Given the description of an element on the screen output the (x, y) to click on. 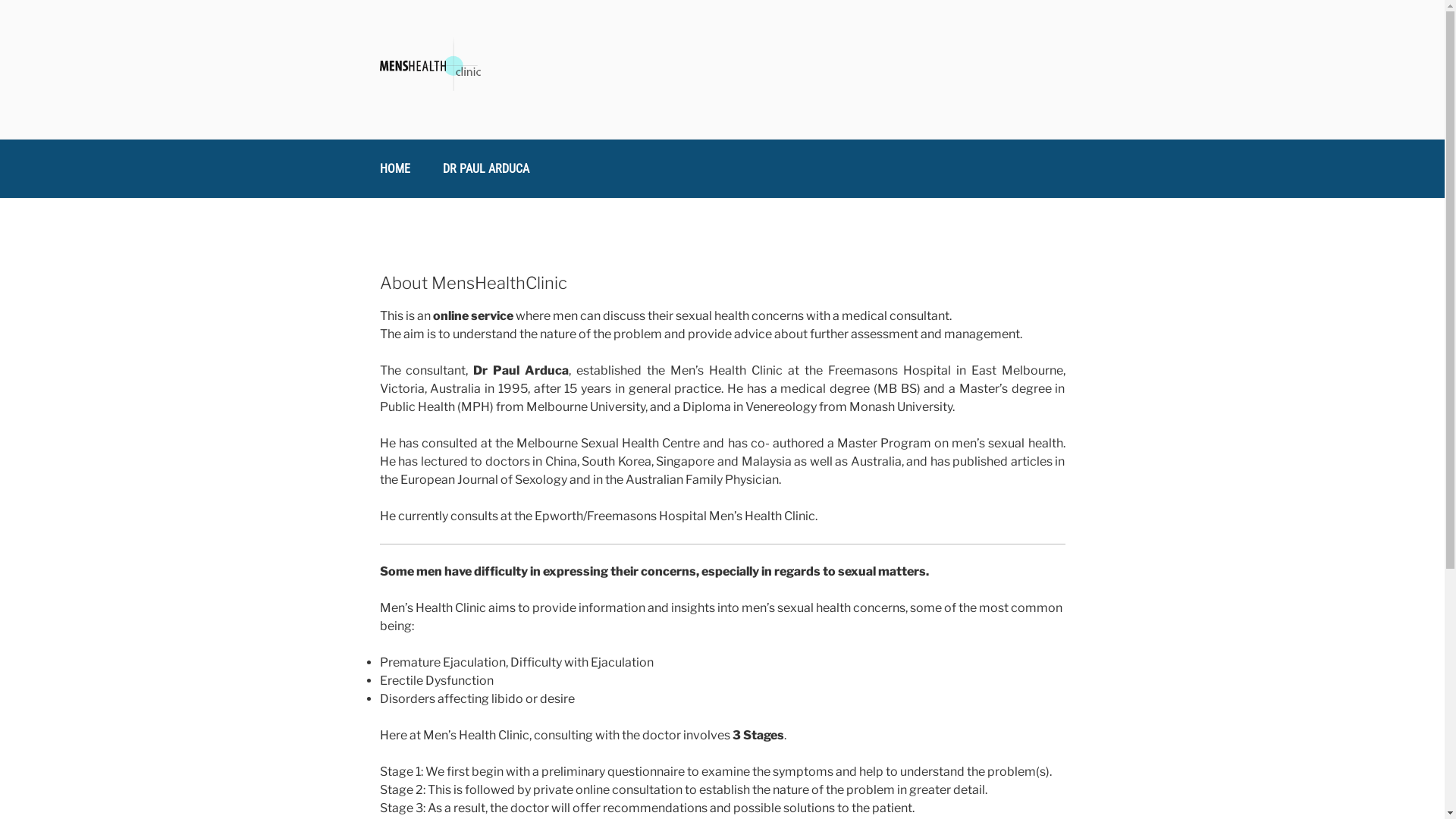
Skip to content Element type: text (0, 0)
DR PAUL ARDUCA Element type: text (485, 168)
MEN'S HEALTH CLINIC Element type: text (555, 118)
HOME Element type: text (394, 168)
